Given the description of an element on the screen output the (x, y) to click on. 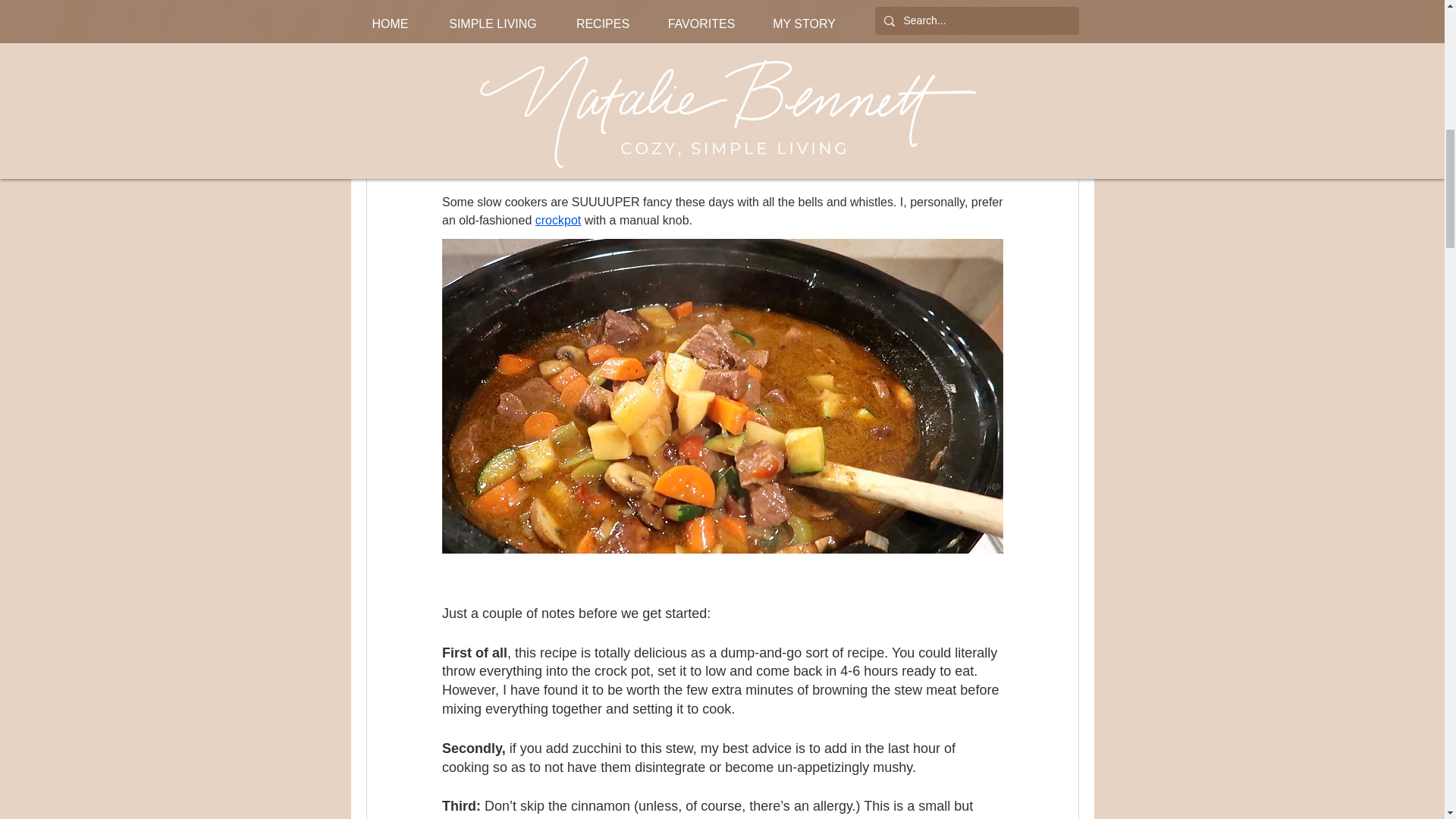
crockpot (556, 219)
